Given the description of an element on the screen output the (x, y) to click on. 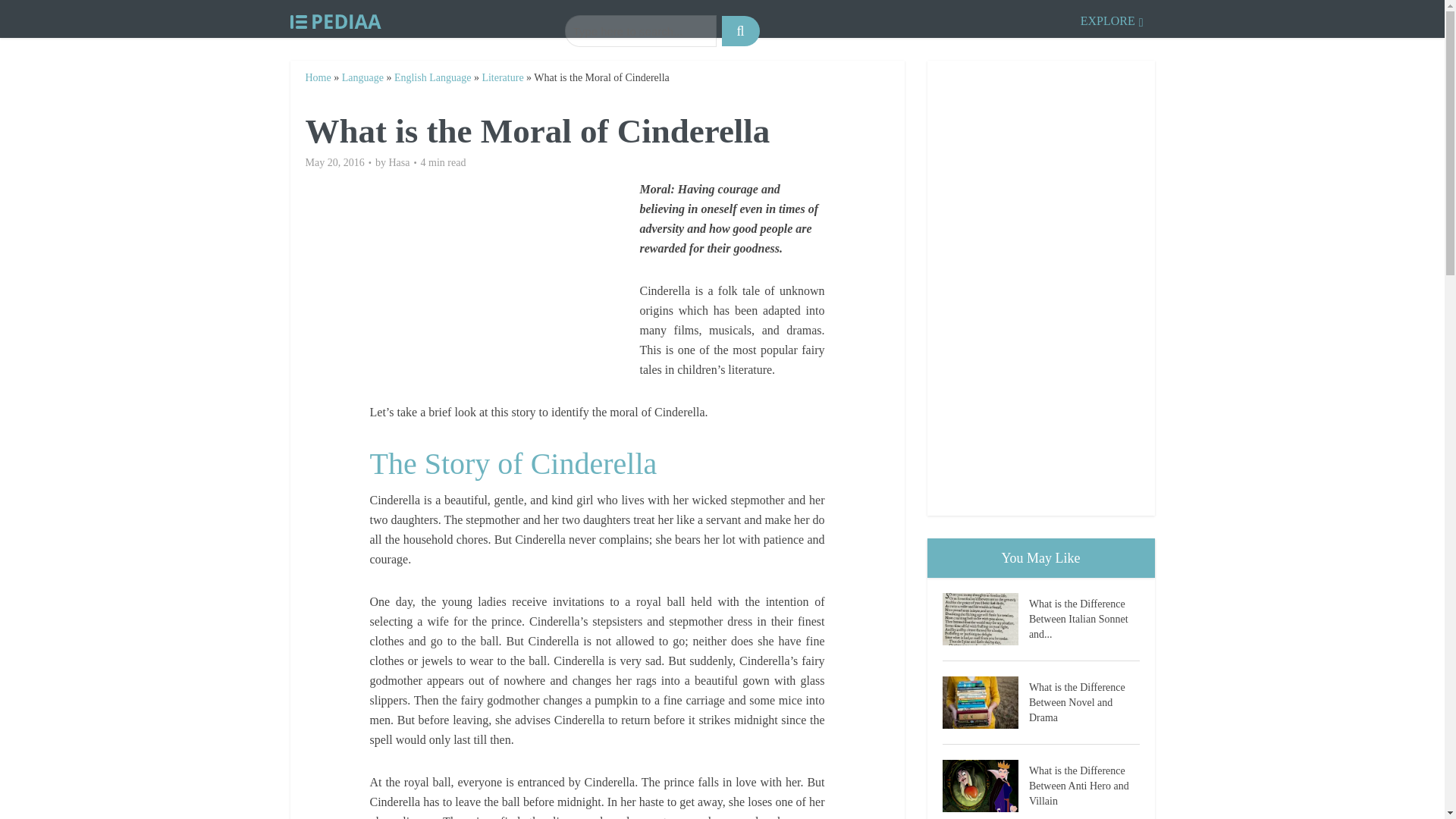
Type here to search... (640, 30)
Advertisement (504, 285)
What is the Difference Between Novel and Drama (1084, 700)
Language (363, 77)
Home (317, 77)
What is the Difference Between Anti Hero and Villain (1084, 784)
What is the Difference Between Novel and Drama (984, 702)
EXPLORE (1111, 18)
What is the Difference Between Anti Hero and Villain (984, 786)
Type here to search... (640, 30)
What is the Difference Between Italian Sonnet and... (1084, 617)
Literature (501, 77)
Hasa (398, 162)
English Language (432, 77)
